Given the description of an element on the screen output the (x, y) to click on. 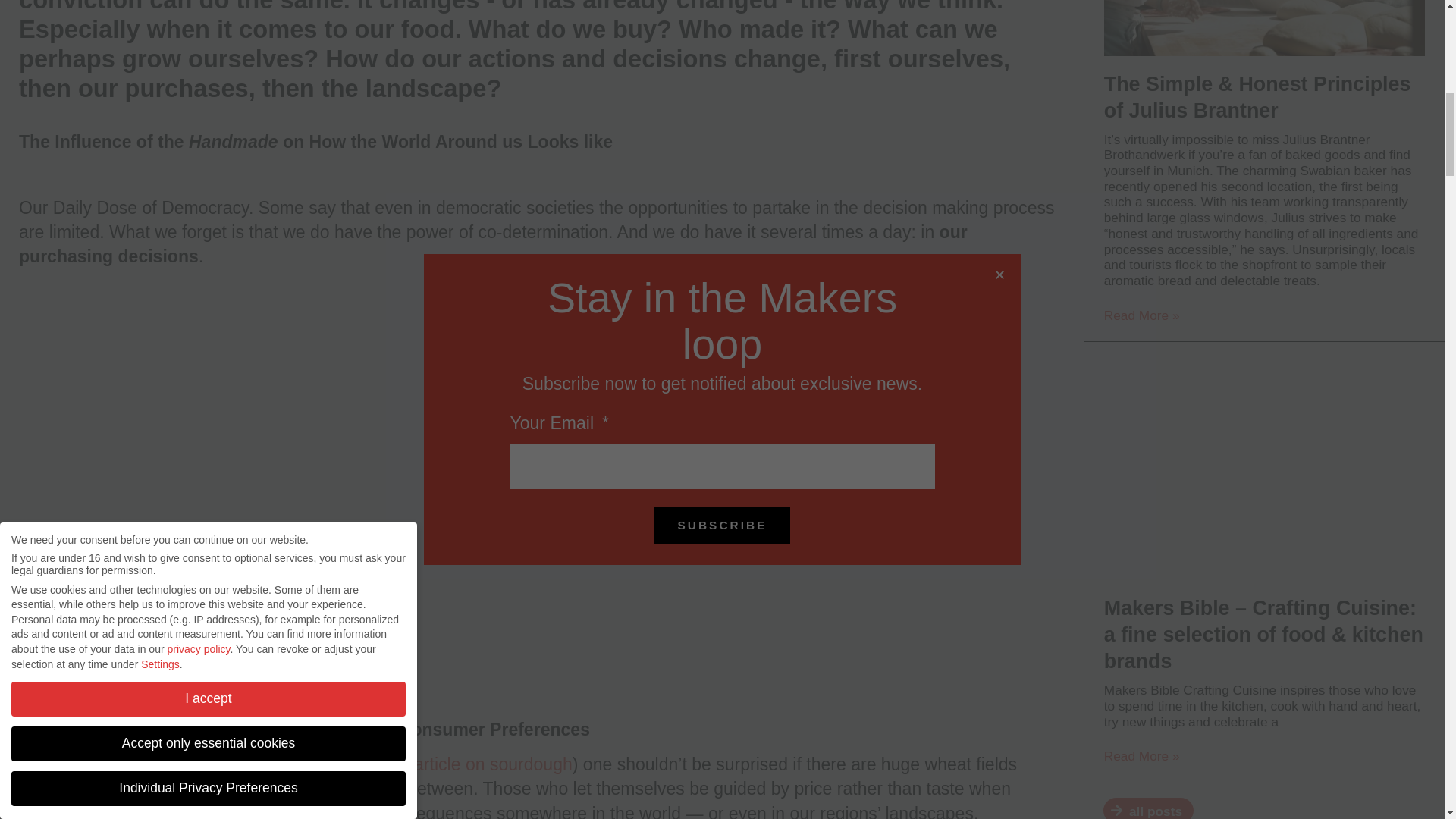
see our article on sourdough (461, 763)
